Given the description of an element on the screen output the (x, y) to click on. 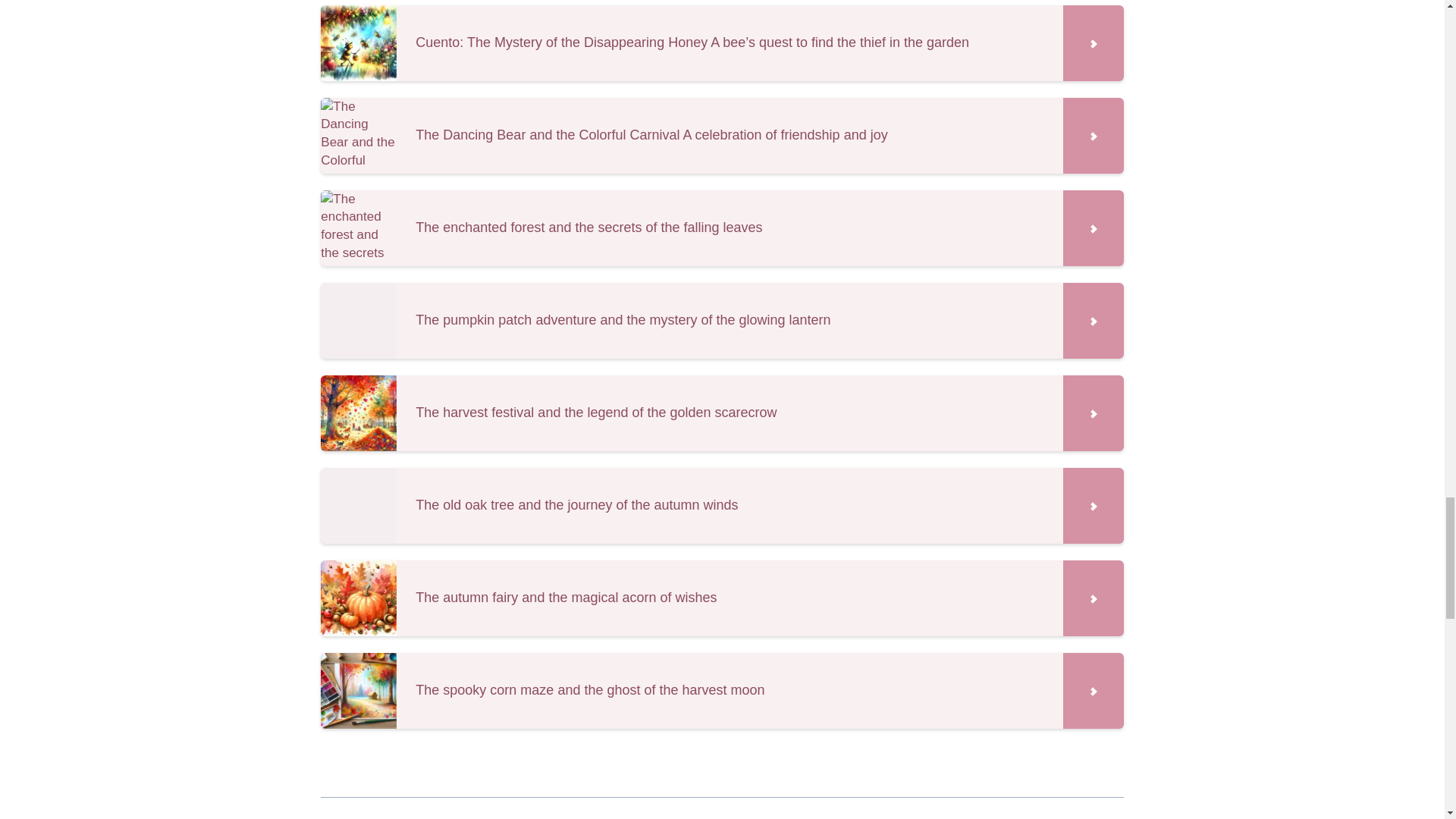
The enchanted forest and the secrets of the falling leaves (721, 228)
